Given the description of an element on the screen output the (x, y) to click on. 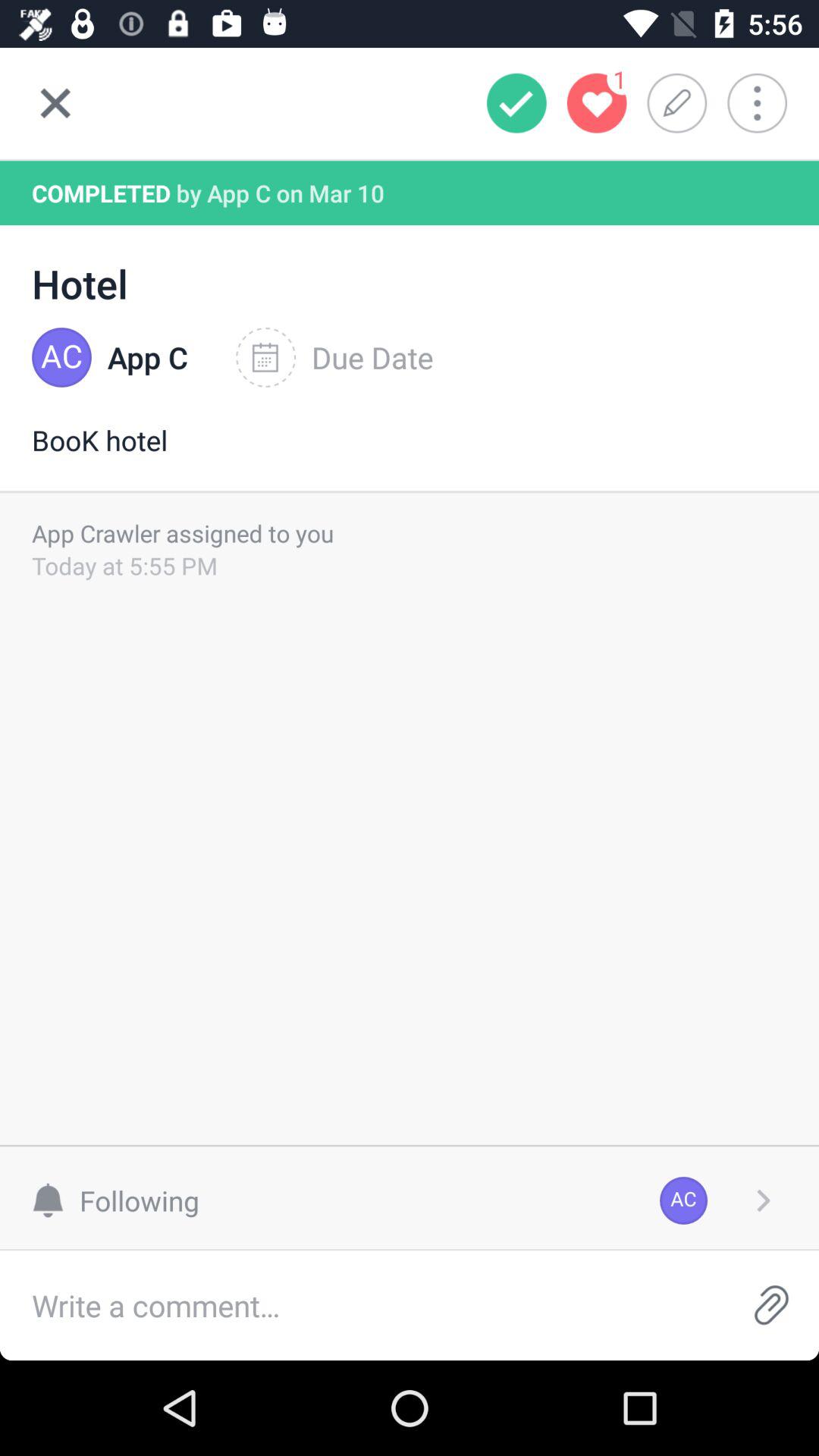
launch the following icon (123, 1200)
